Given the description of an element on the screen output the (x, y) to click on. 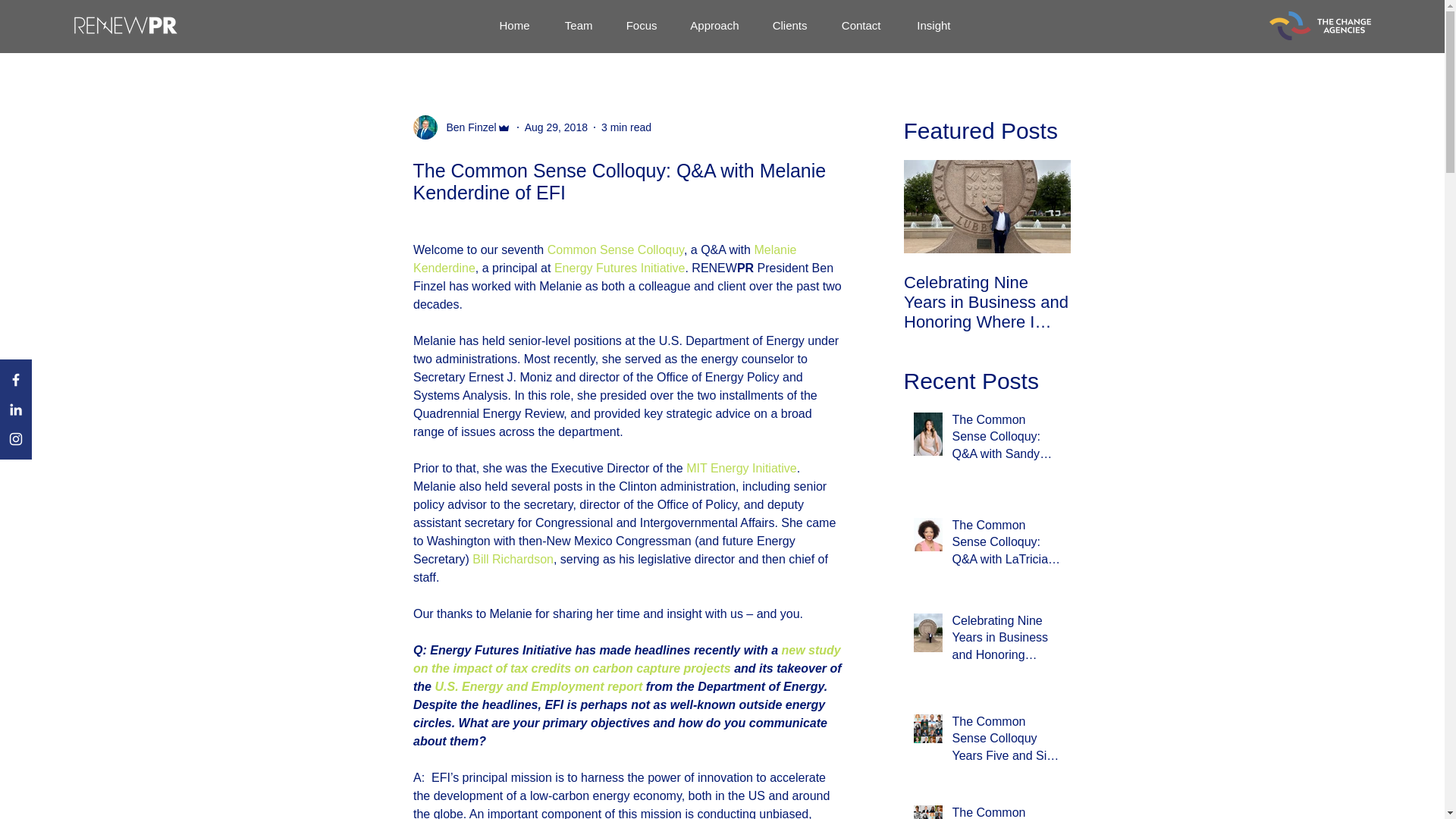
Clients (788, 25)
Approach (712, 25)
Home (511, 25)
Energy Futures Initiative (618, 267)
Contact (858, 25)
Bill Richardson (512, 558)
Ben Finzel (466, 127)
Team (575, 25)
Melanie Kenderdine (605, 258)
Aug 29, 2018 (556, 127)
Focus (640, 25)
Insight (931, 25)
MIT Energy Initiative (740, 468)
Common Sense Colloquy (614, 249)
